Given the description of an element on the screen output the (x, y) to click on. 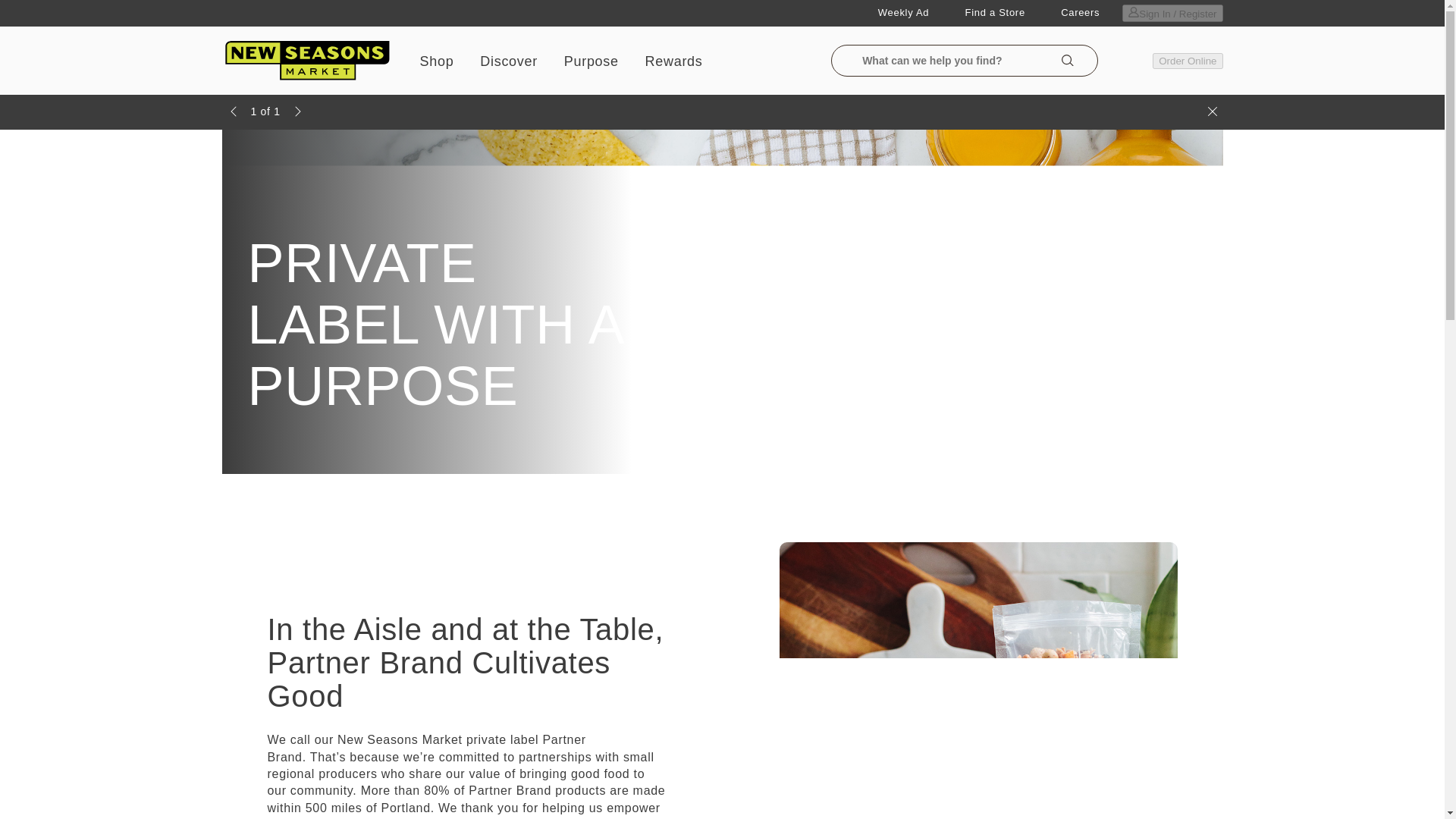
Find a Store (995, 12)
Weekly Ad (902, 12)
Careers (1080, 12)
